Given the description of an element on the screen output the (x, y) to click on. 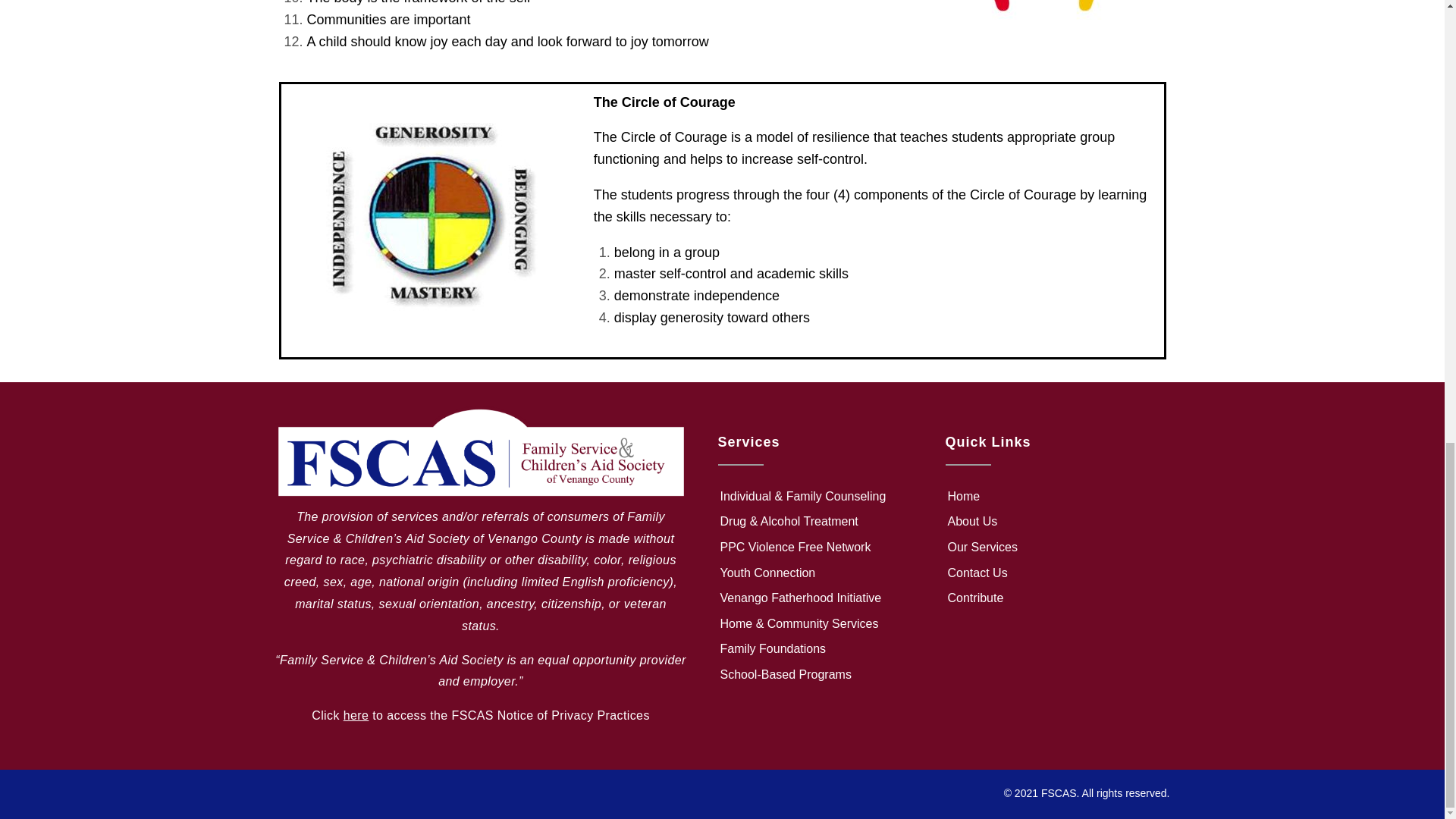
here (356, 715)
PPC Violence Free Network (815, 547)
